Given the description of an element on the screen output the (x, y) to click on. 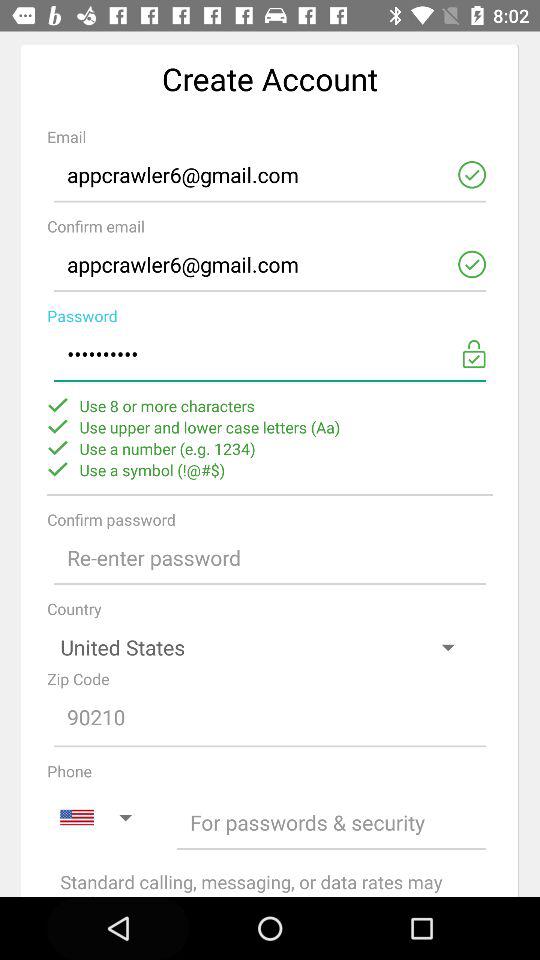
enter zip code (270, 718)
